Given the description of an element on the screen output the (x, y) to click on. 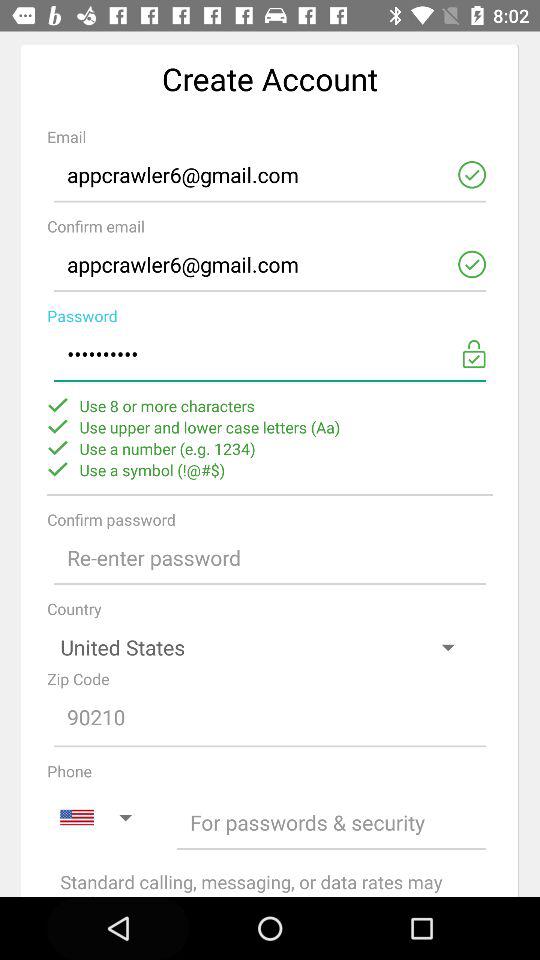
enter zip code (270, 718)
